Given the description of an element on the screen output the (x, y) to click on. 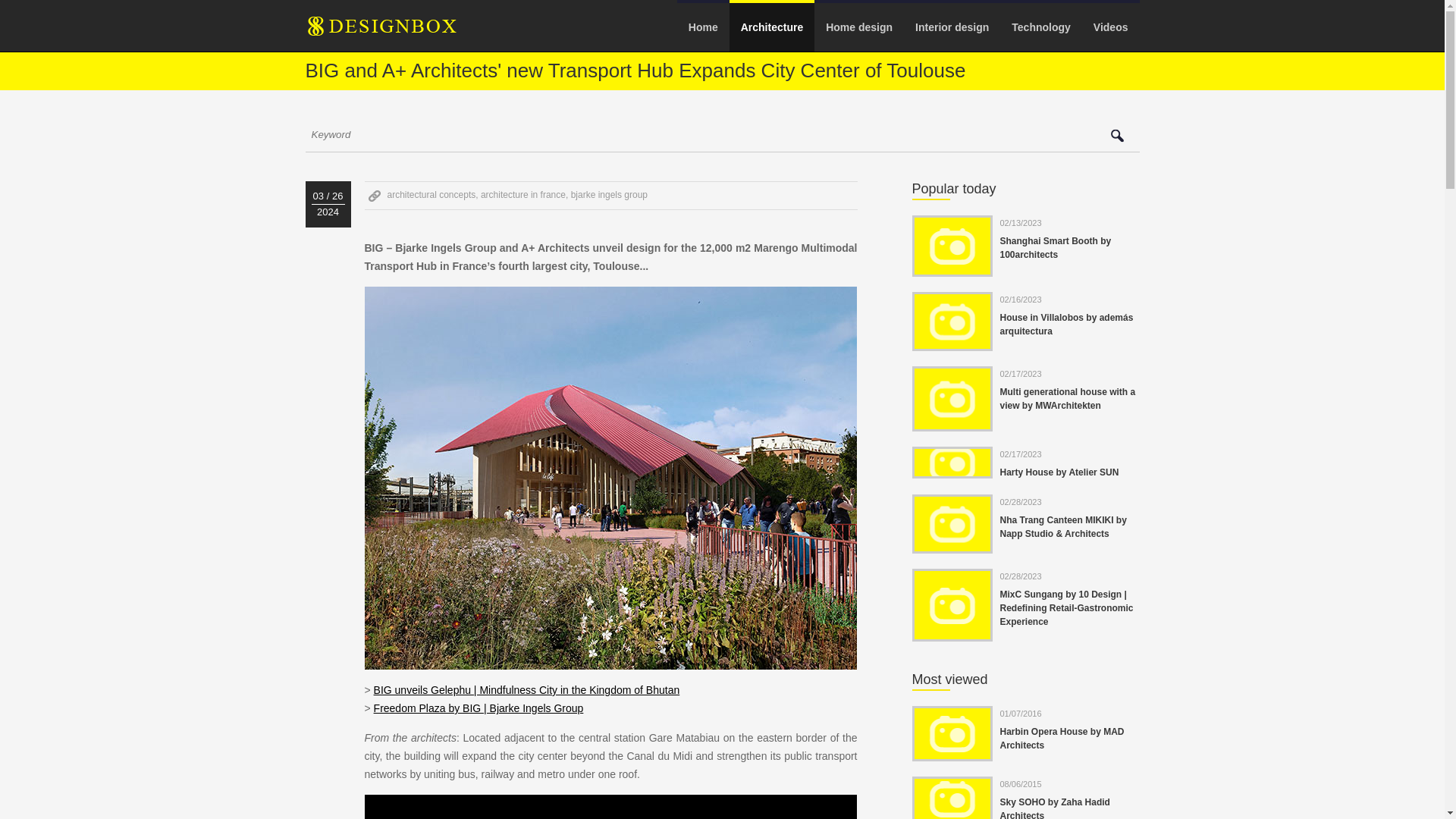
Videos (1110, 27)
Multi generational house with a view by MWArchitekten (1066, 398)
Home (703, 27)
Architecture (771, 27)
architectural concepts (431, 194)
bjarke ingels group (608, 194)
Home design (858, 27)
Architecture (771, 27)
Home design (858, 27)
Technology (1040, 27)
88DesignBox (394, 31)
Home (703, 27)
Interior design (952, 27)
Shanghai Smart Booth by 100architects (1054, 247)
Interior design (952, 27)
